Given the description of an element on the screen output the (x, y) to click on. 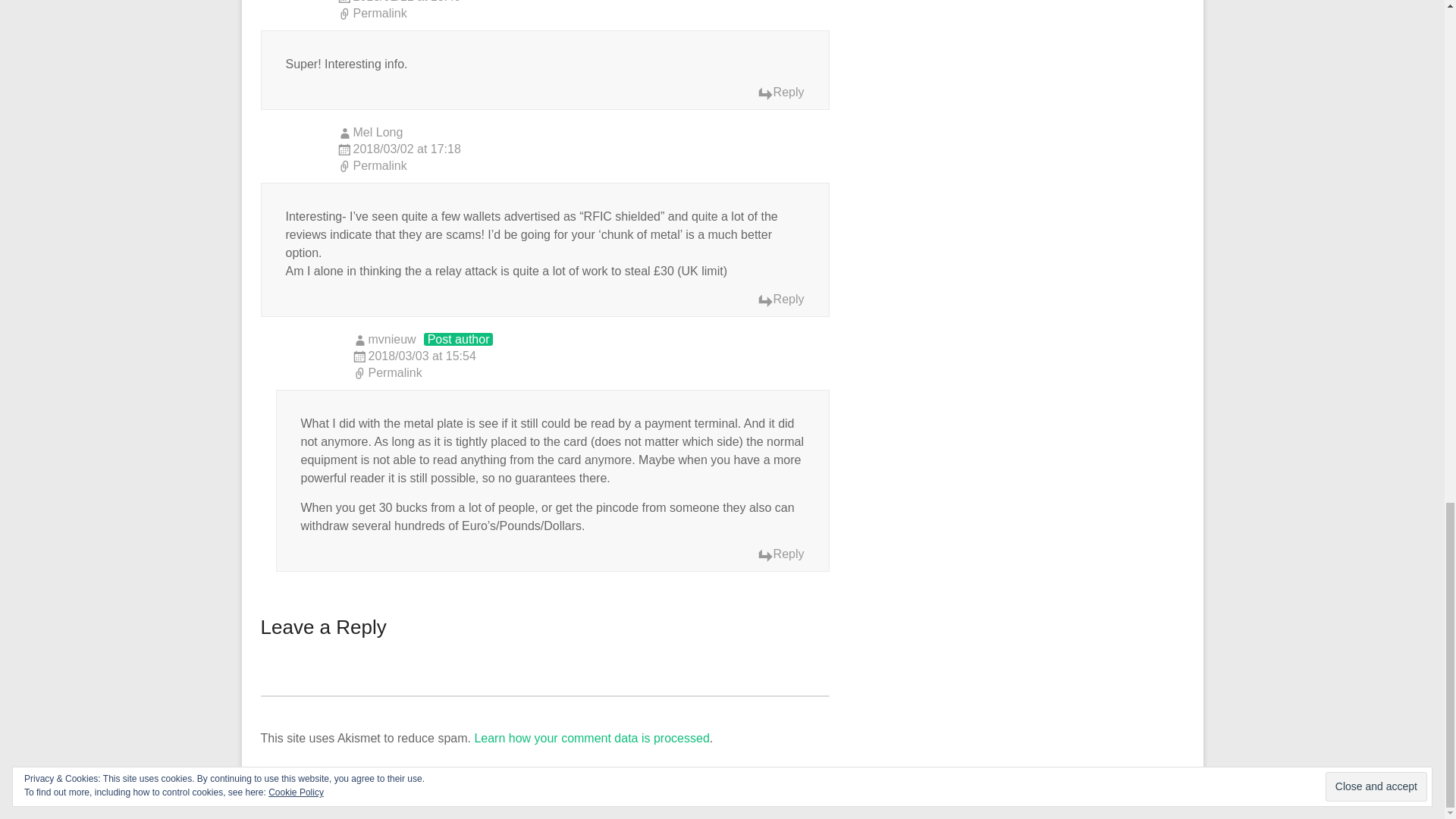
Spacious (511, 781)
WordPress (670, 781)
DIY Stuff.nl (355, 781)
